Given the description of an element on the screen output the (x, y) to click on. 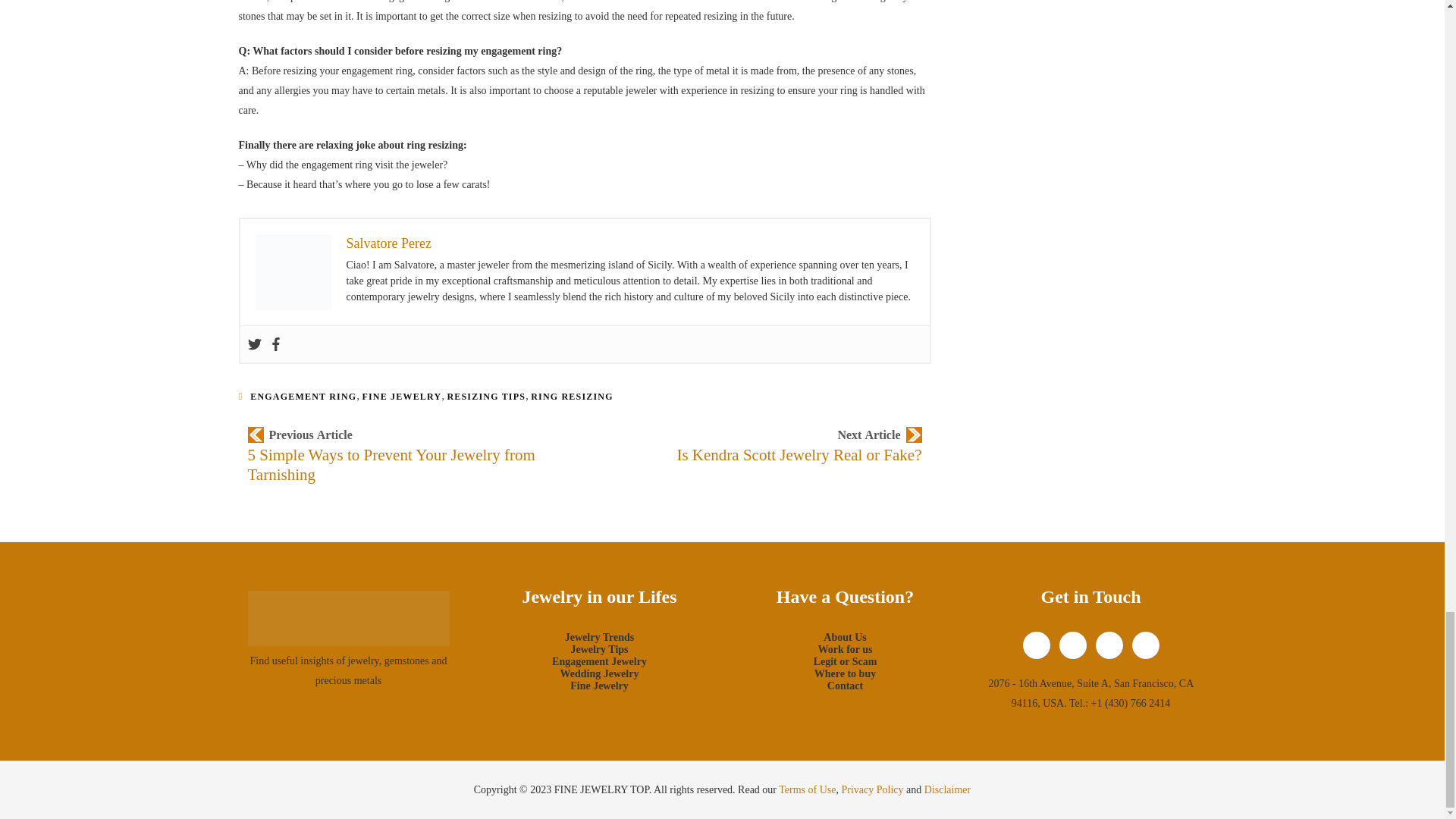
Twitter (253, 344)
ENGAGEMENT RING (303, 396)
RESIZING TIPS (485, 396)
Fine Jewelry Top Blog (347, 618)
Facebook (274, 344)
Salvatore Perez (388, 242)
FINE JEWELRY (401, 396)
